Given the description of an element on the screen output the (x, y) to click on. 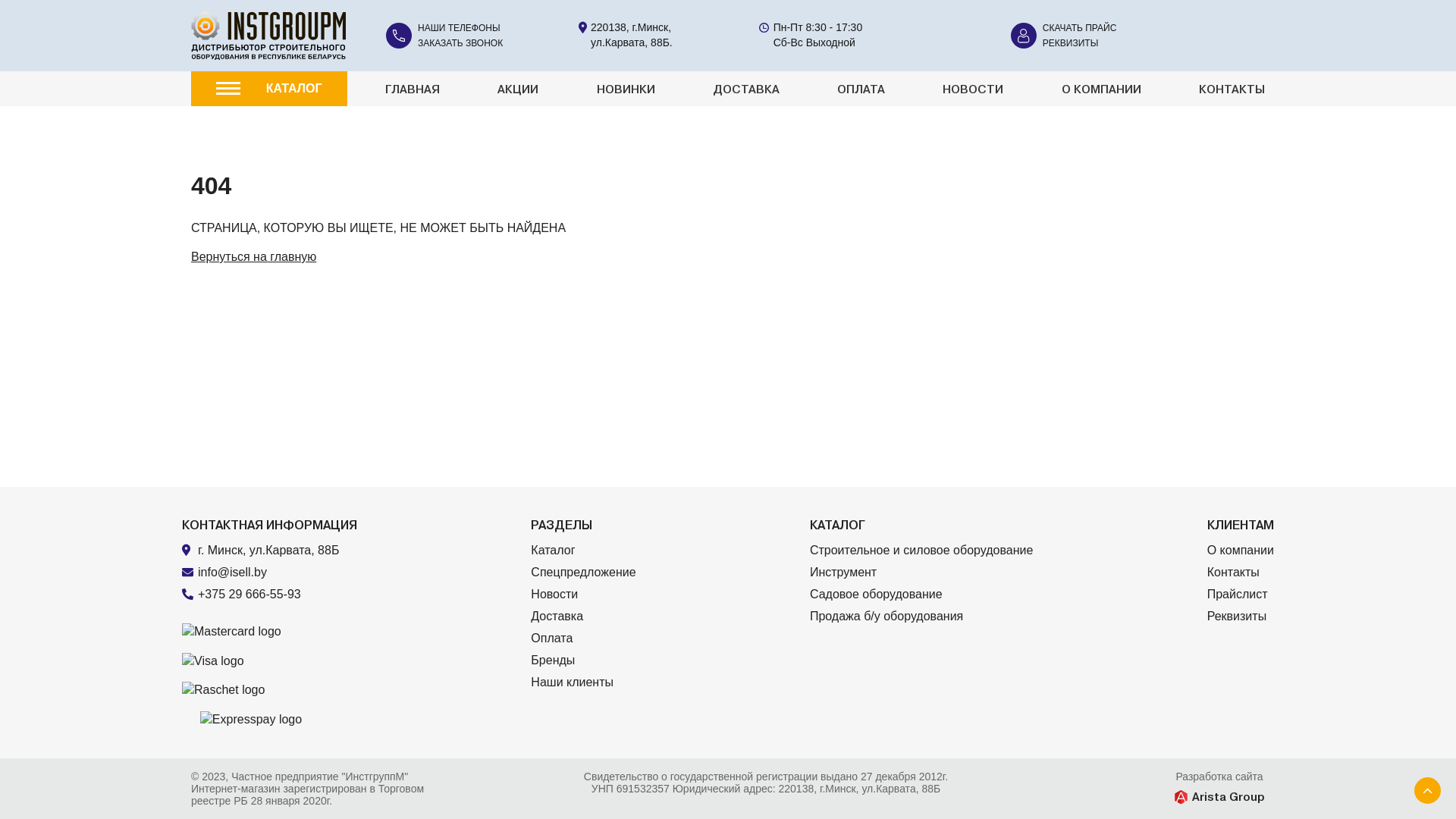
info@isell.by Element type: text (231, 571)
+375 29 666-55-93 Element type: text (277, 593)
Scroll to Top Element type: hover (1427, 790)
+375 29 666-55-93 Element type: text (249, 593)
